Given the description of an element on the screen output the (x, y) to click on. 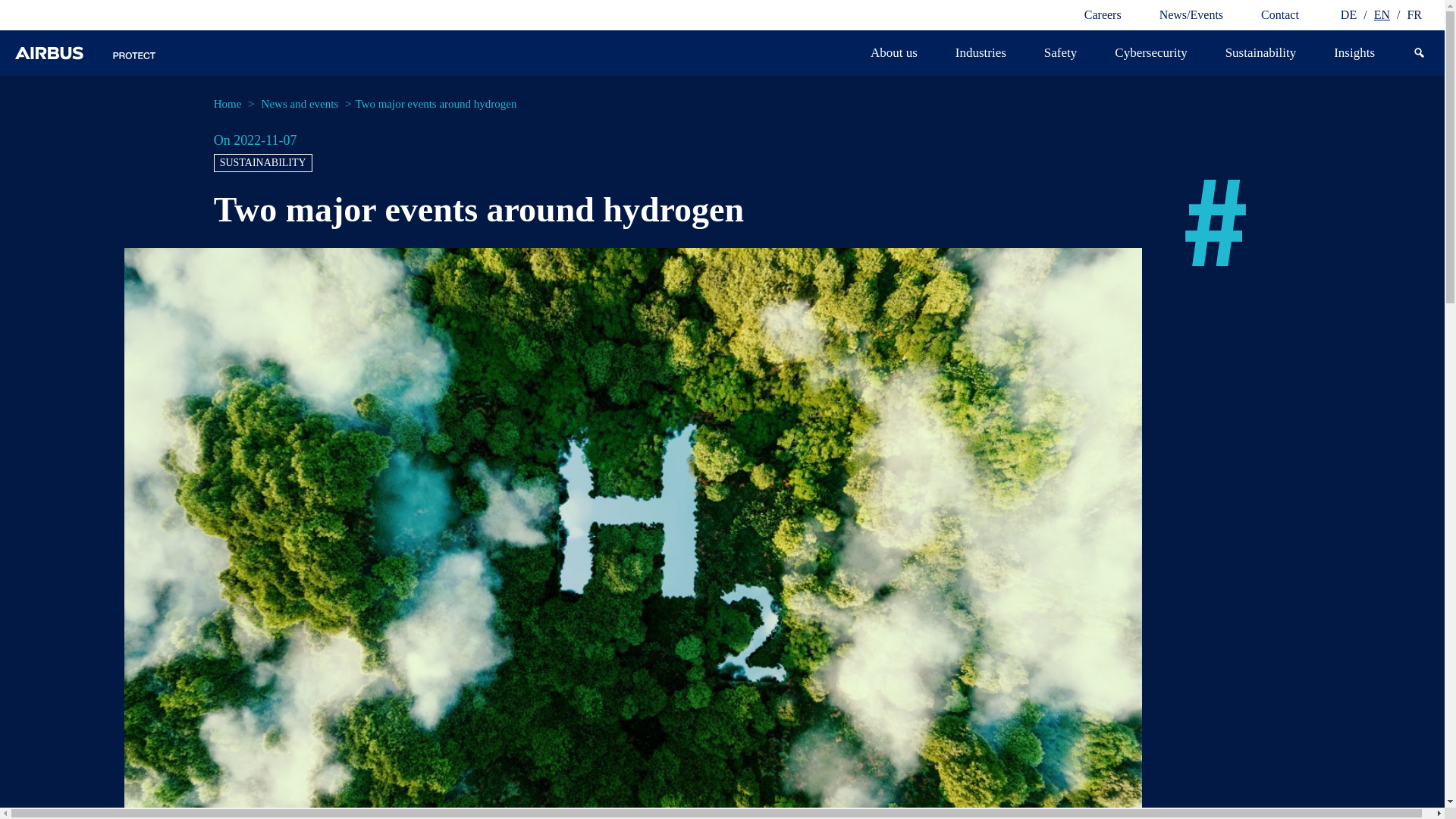
Industries (980, 53)
Safety (1060, 53)
Careers (1102, 15)
About us (893, 53)
Contact (1279, 15)
Cybersecurity (1150, 53)
